Given the description of an element on the screen output the (x, y) to click on. 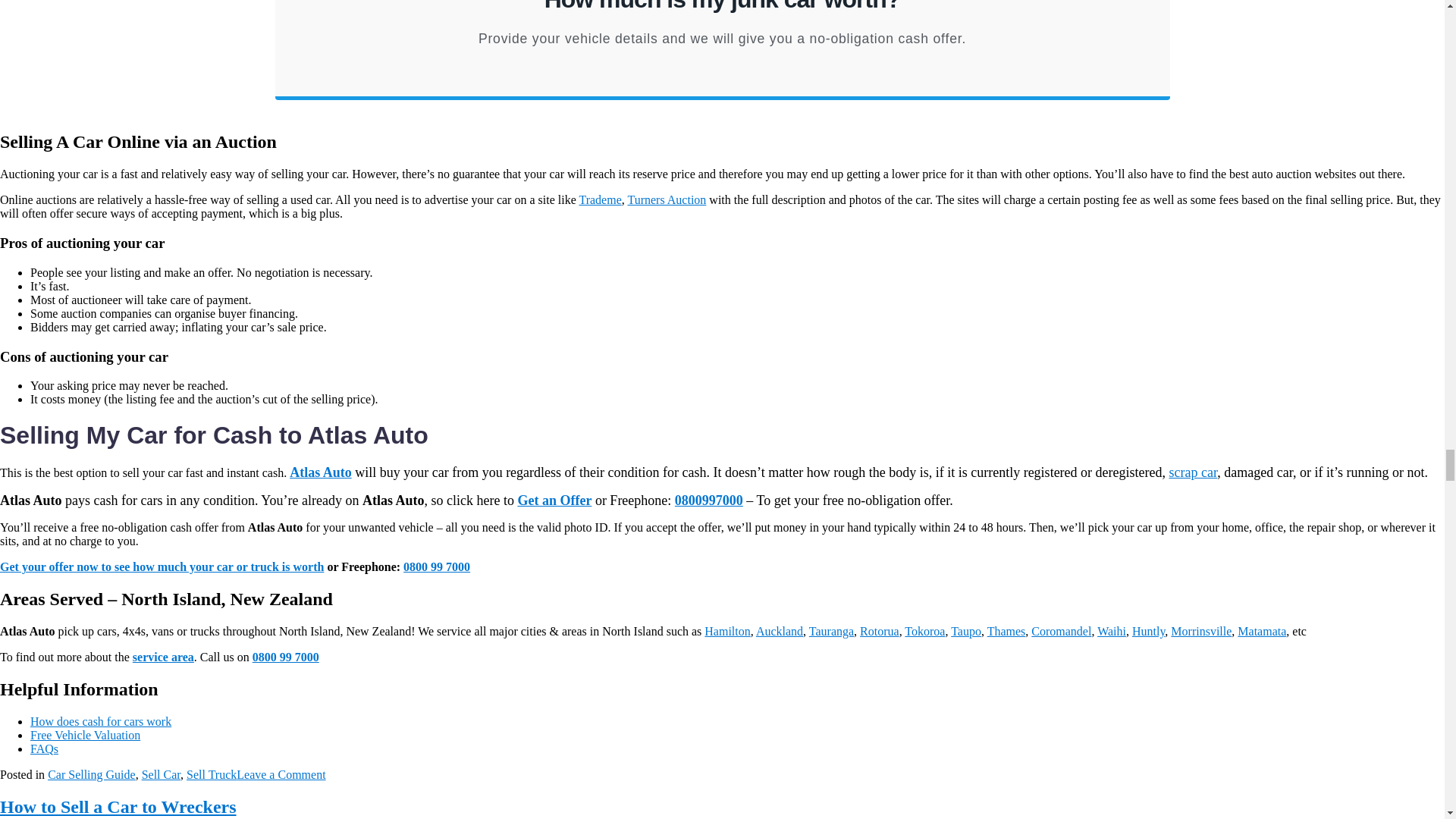
Scrap Cars Taupo (965, 631)
Scrap Cars Rotorua (879, 631)
Scrap Cars Morrinsville (1200, 631)
Scrap Cars Tokoroa (924, 631)
Scrap Cars Huntly (1148, 631)
Scrap Cars Waihi (1111, 631)
Scrap Cars Matamata (1261, 631)
Scrap Cars Coromandel (1060, 631)
Scrap Cars Auckland (779, 631)
Scrap Cars Tauranga (831, 631)
Scrap Cars Thames (1006, 631)
Scrap Cars Hamilton (726, 631)
